Given the description of an element on the screen output the (x, y) to click on. 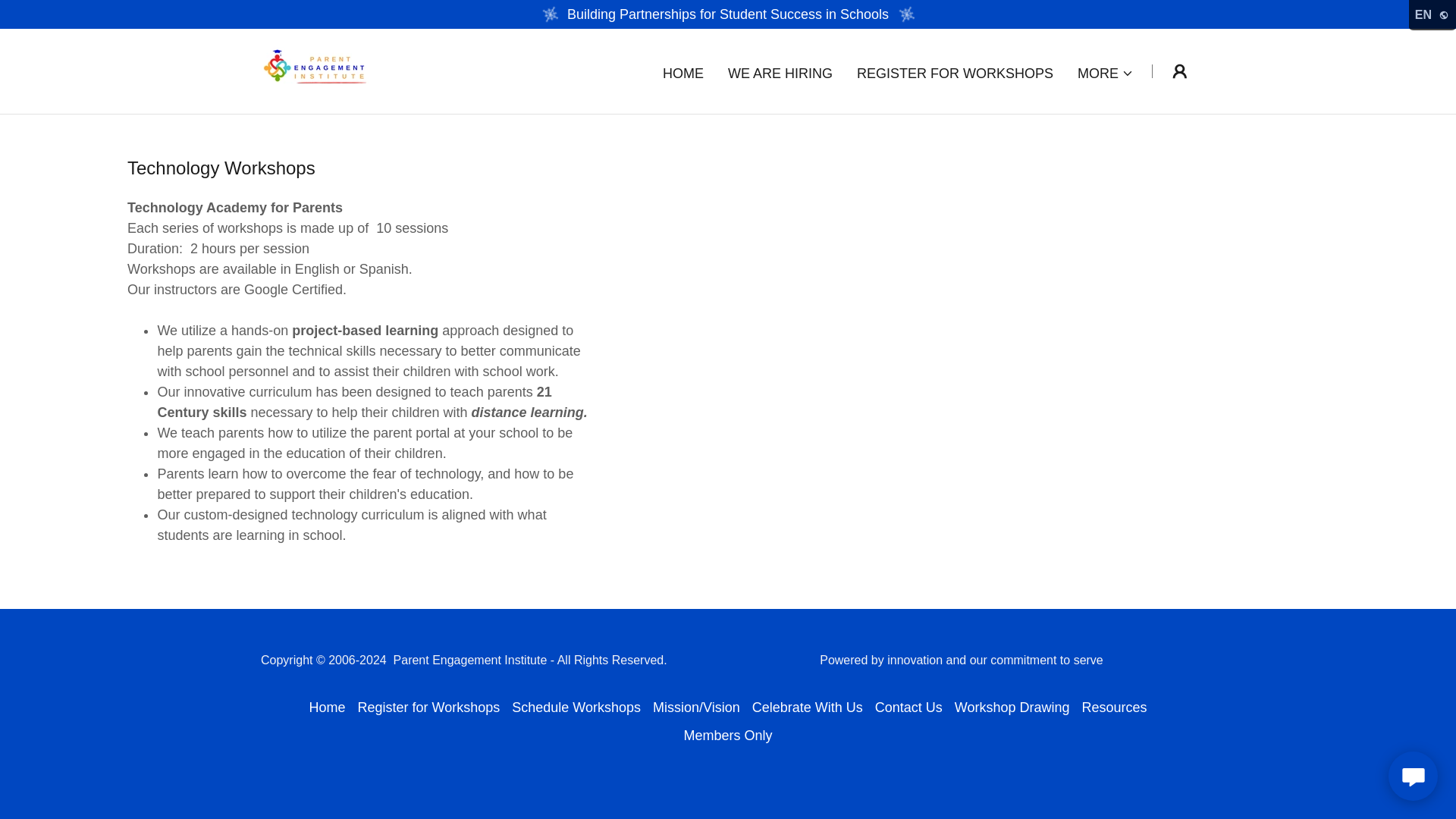
HOME (682, 72)
REGISTER FOR WORKSHOPS (954, 72)
MORE (1105, 72)
WE ARE HIRING (780, 72)
